Given the description of an element on the screen output the (x, y) to click on. 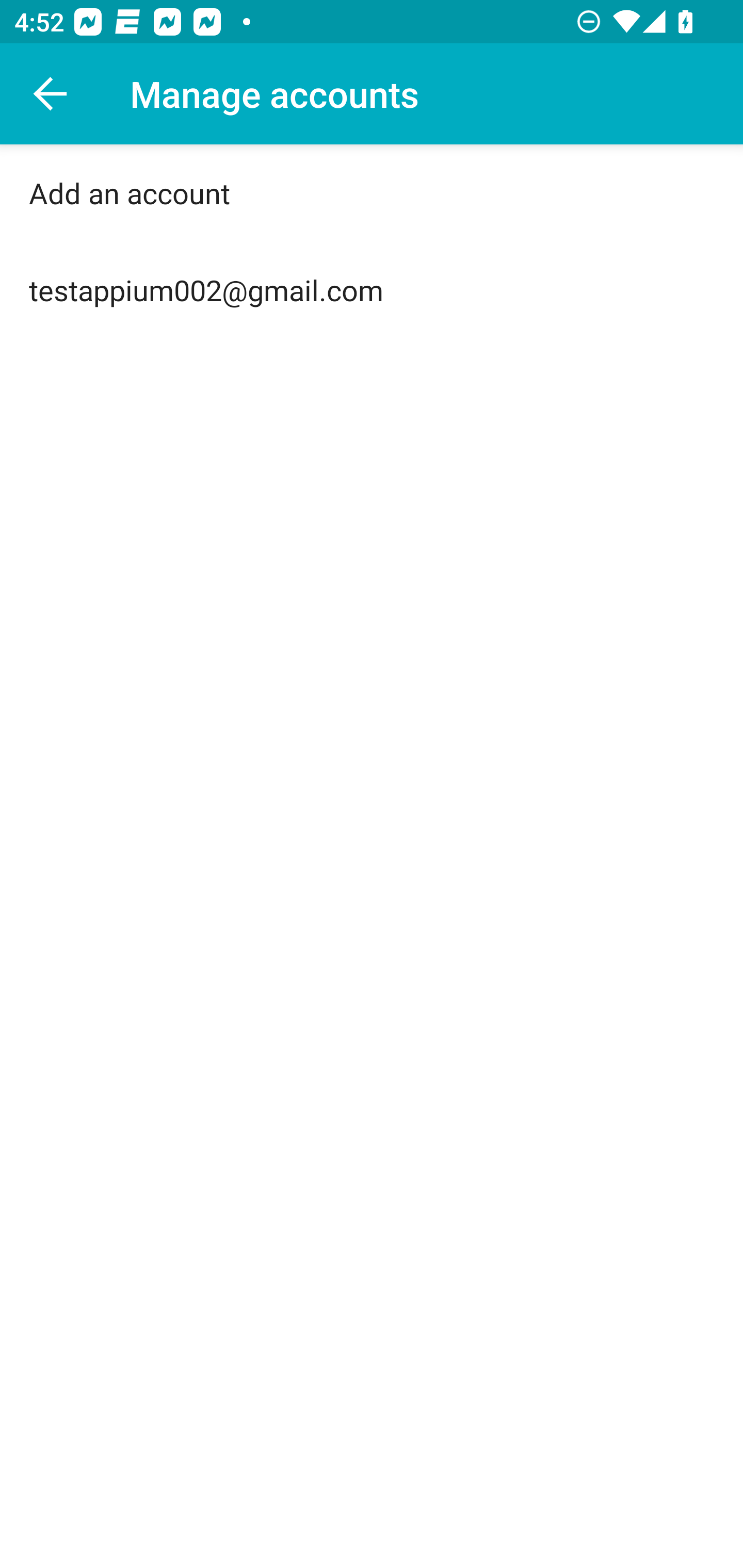
Navigate up (50, 93)
Add an account (371, 192)
testappium002@gmail.com (371, 289)
